Given the description of an element on the screen output the (x, y) to click on. 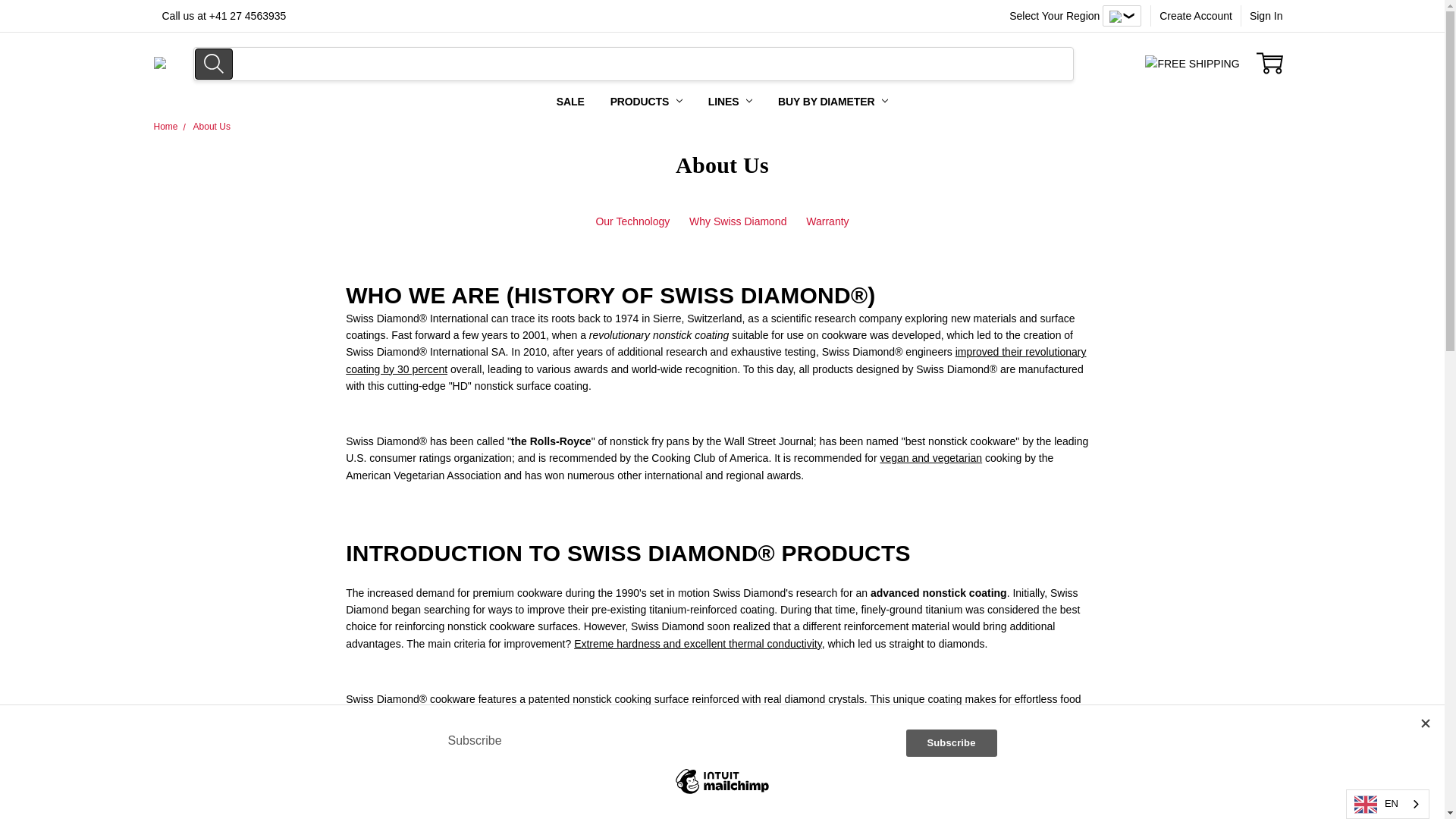
Free Shipping On Every Order (158, 62)
LINES (730, 101)
Show All (564, 101)
PRODUCTS (645, 101)
Create Account (1195, 15)
SALE (569, 101)
Sign In (1266, 15)
